Given the description of an element on the screen output the (x, y) to click on. 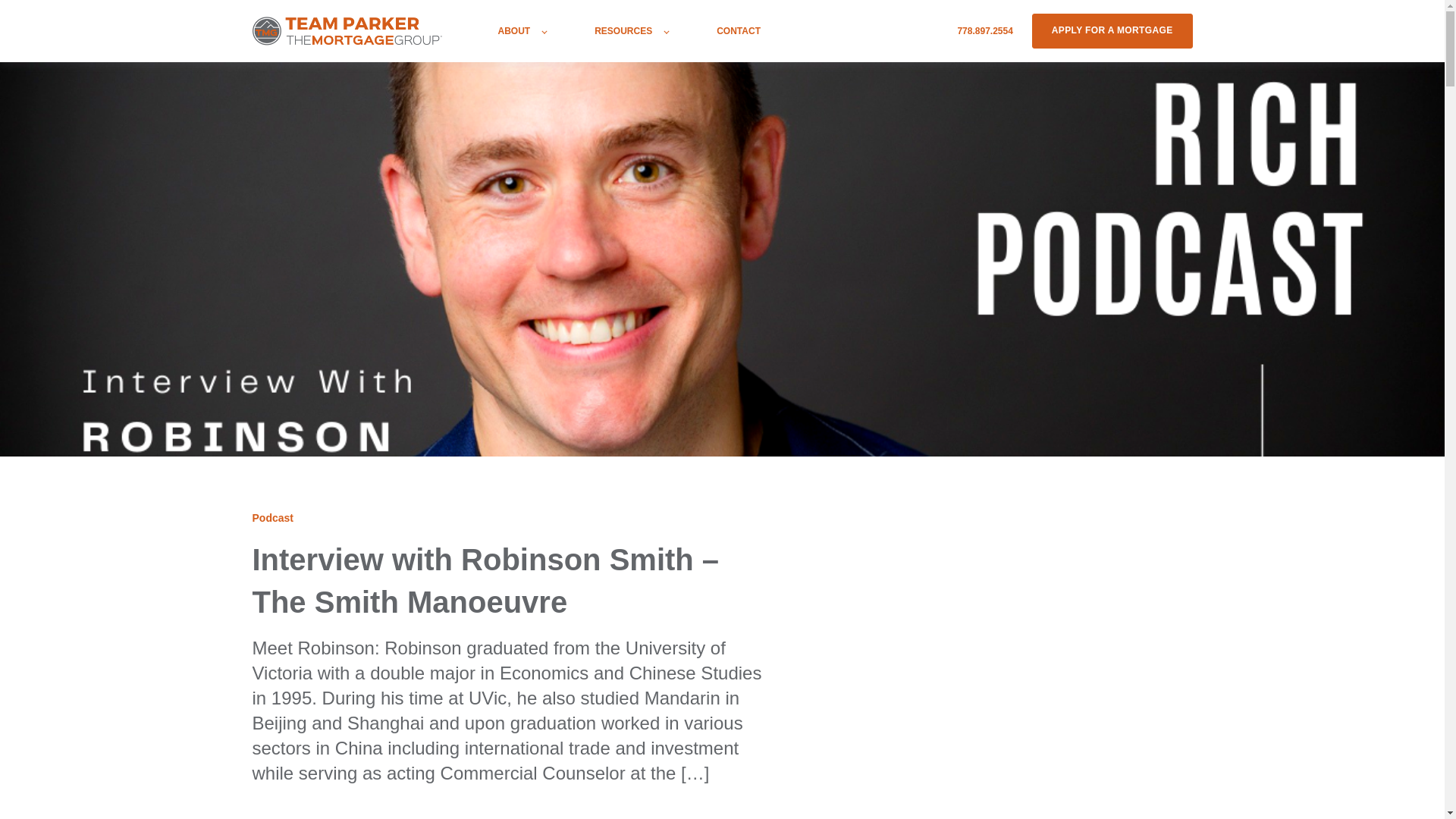
ABOUT (521, 30)
CONTACT (738, 30)
778.897.2554 (983, 30)
APPLY FOR A MORTGAGE (1112, 30)
Matthew Parker (293, 818)
RESOURCES (631, 30)
